Given the description of an element on the screen output the (x, y) to click on. 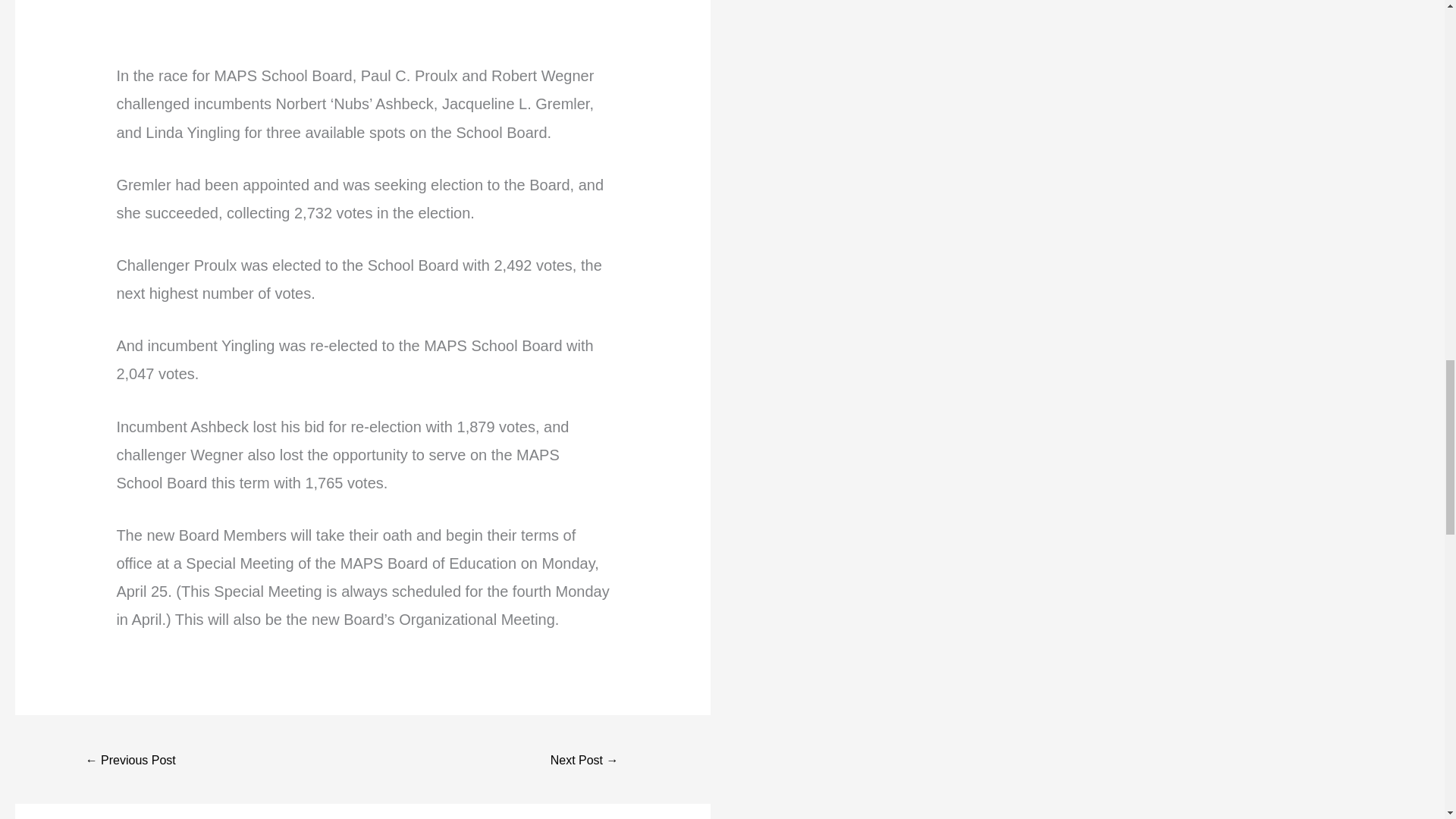
2022 History Hunt registration now open (129, 760)
